Given the description of an element on the screen output the (x, y) to click on. 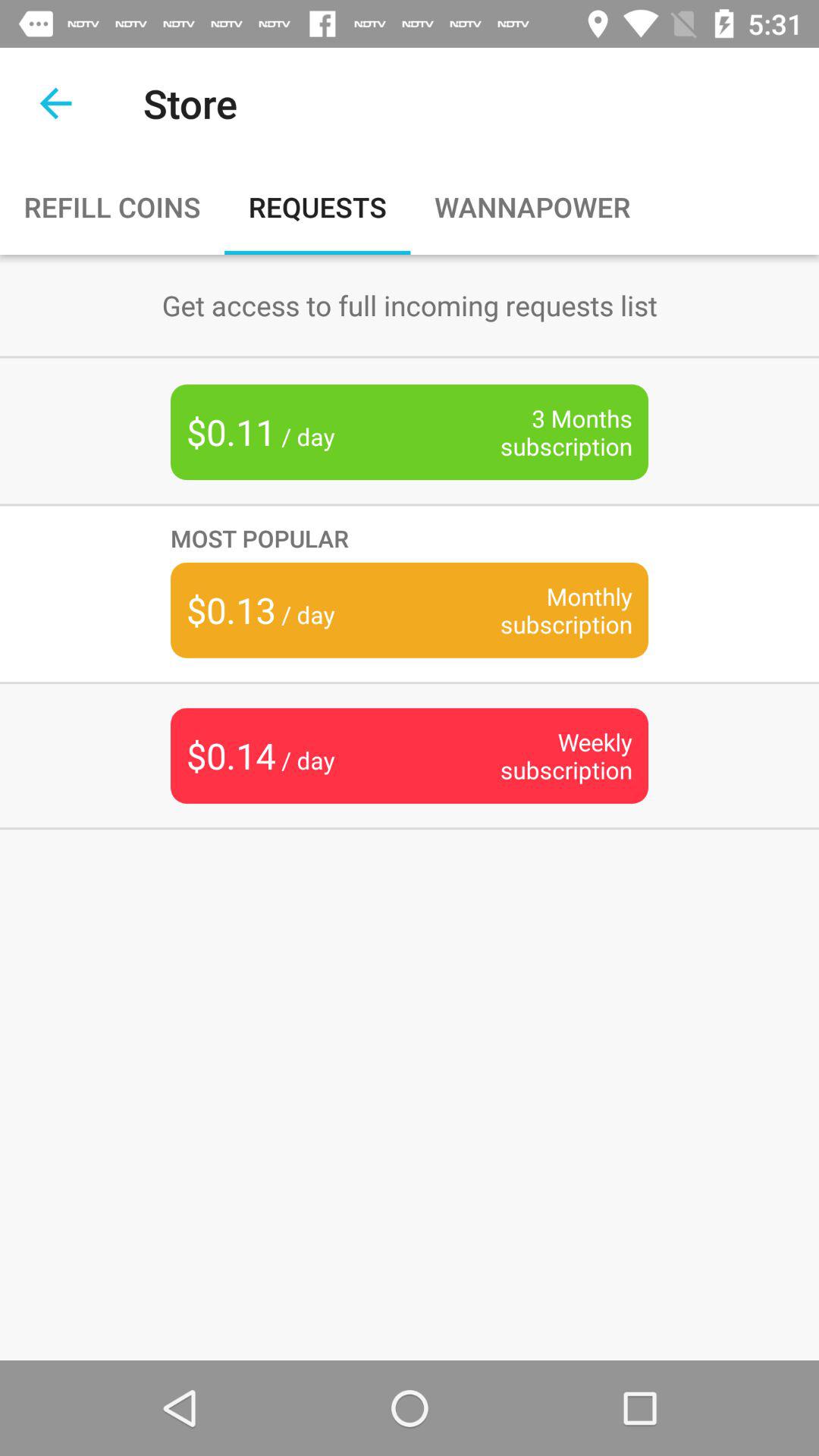
click get access to (409, 305)
